Given the description of an element on the screen output the (x, y) to click on. 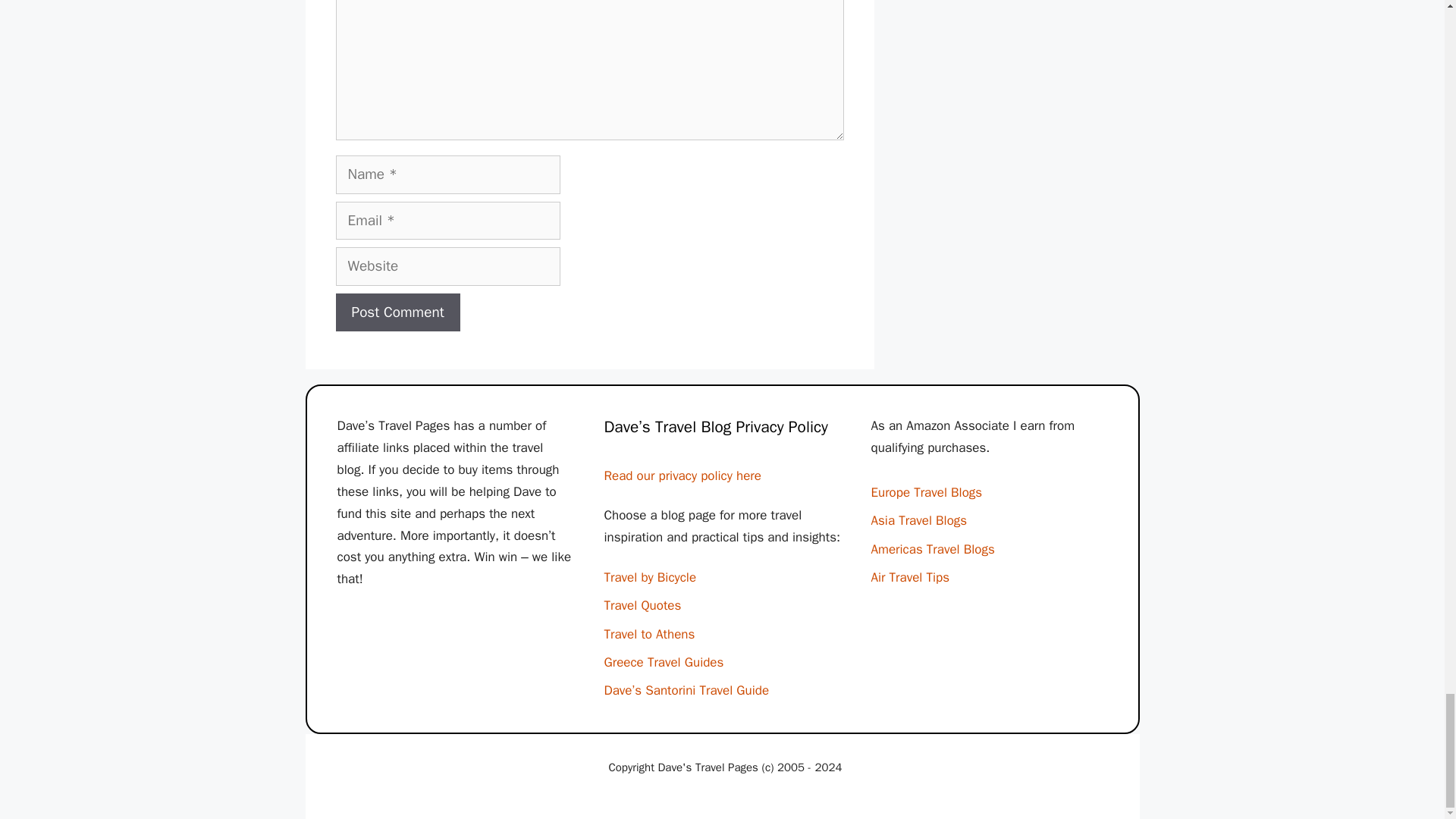
Post Comment (397, 312)
Post Comment (397, 312)
